Given the description of an element on the screen output the (x, y) to click on. 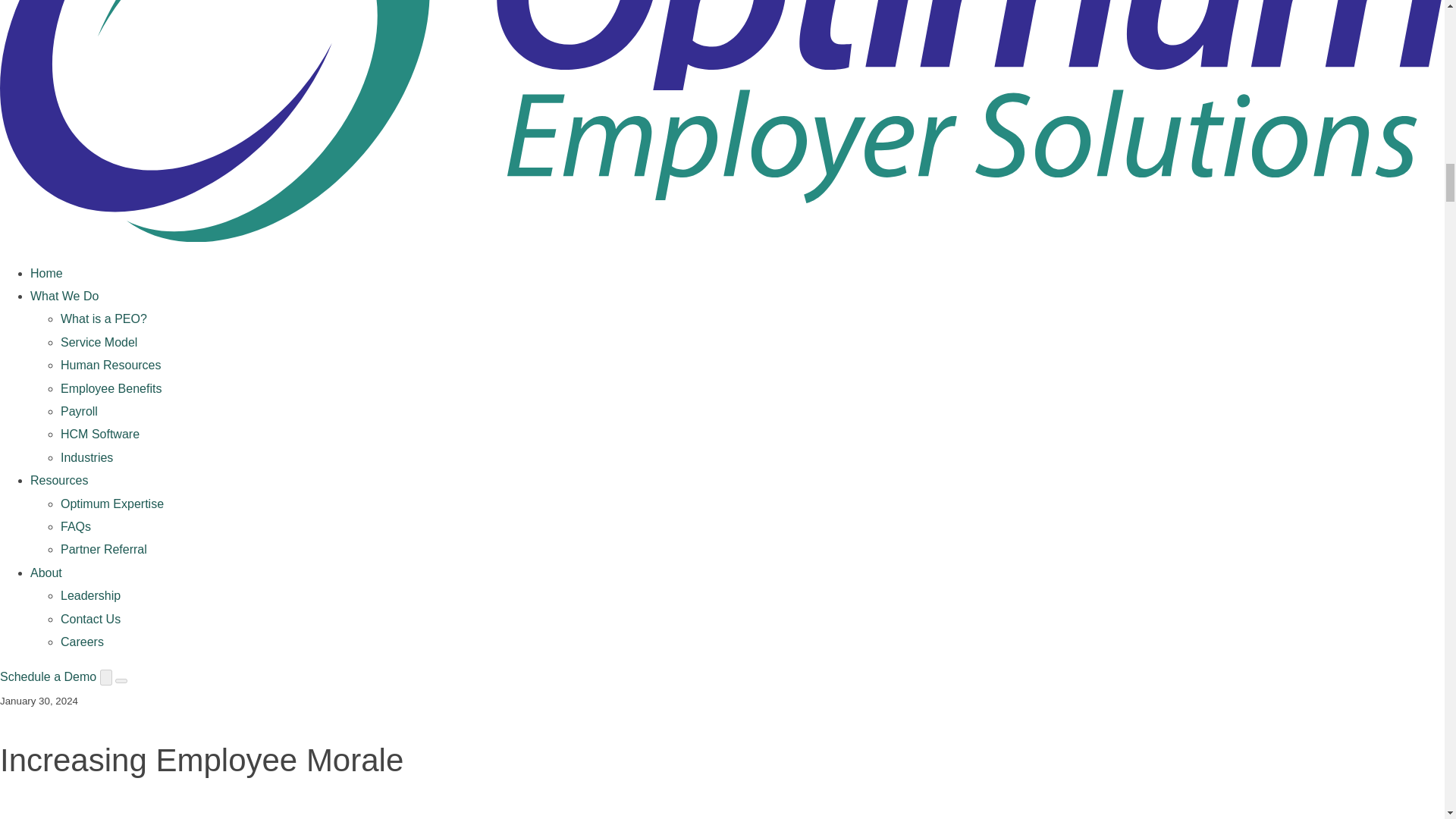
FAQs (75, 526)
Payroll (79, 410)
Leadership (90, 594)
Home (46, 273)
What is a PEO? (104, 318)
Employee Benefits (111, 388)
Industries (87, 457)
Careers (82, 641)
Human Resources (111, 364)
What We Do (64, 295)
Resources (58, 480)
Partner Referral (104, 549)
HCM Software (100, 433)
Service Model (98, 341)
About (46, 572)
